Given the description of an element on the screen output the (x, y) to click on. 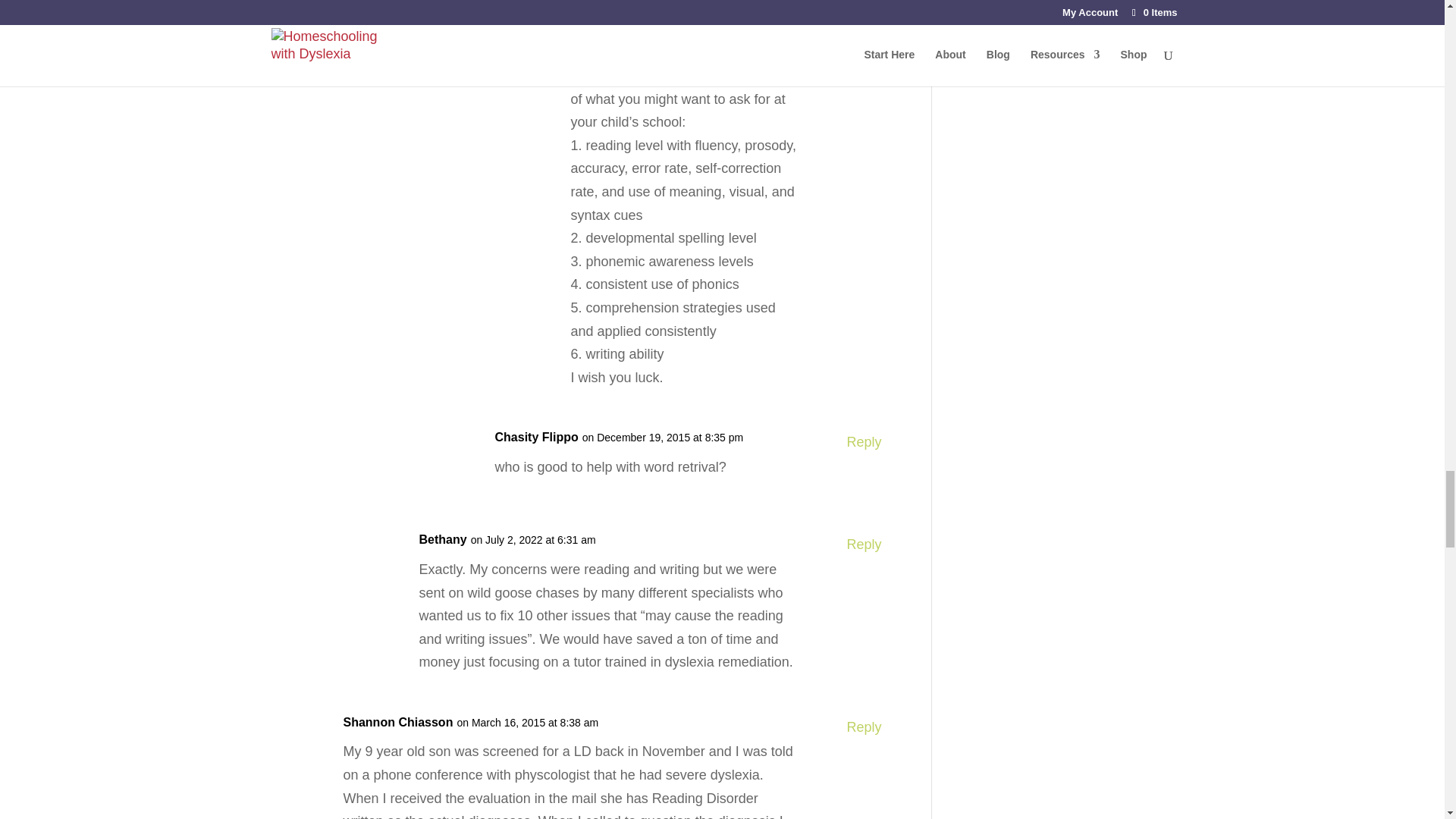
Reply (862, 544)
Reply (862, 727)
Reply (862, 442)
